Given the description of an element on the screen output the (x, y) to click on. 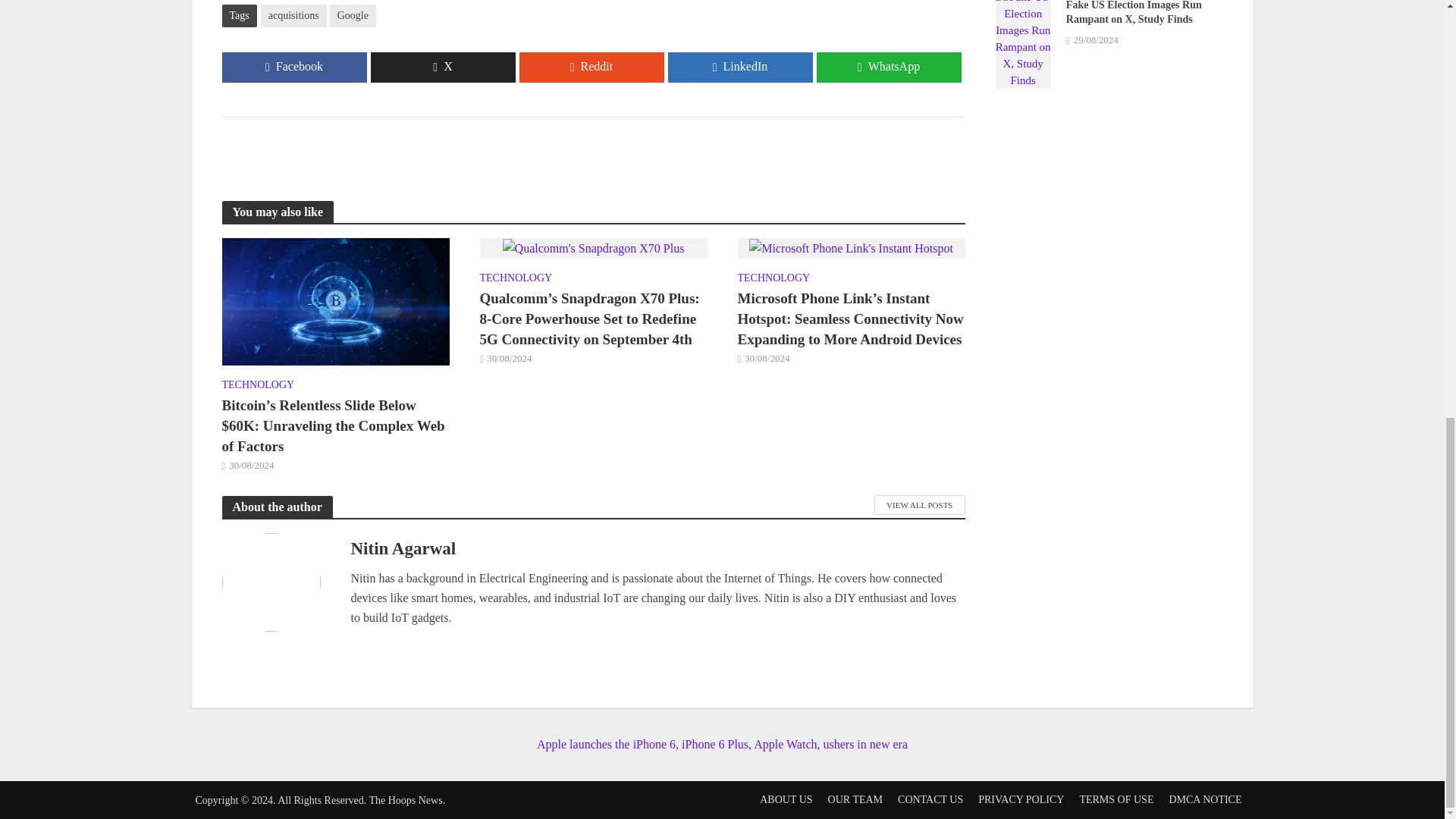
acquisitions (293, 15)
